Given the description of an element on the screen output the (x, y) to click on. 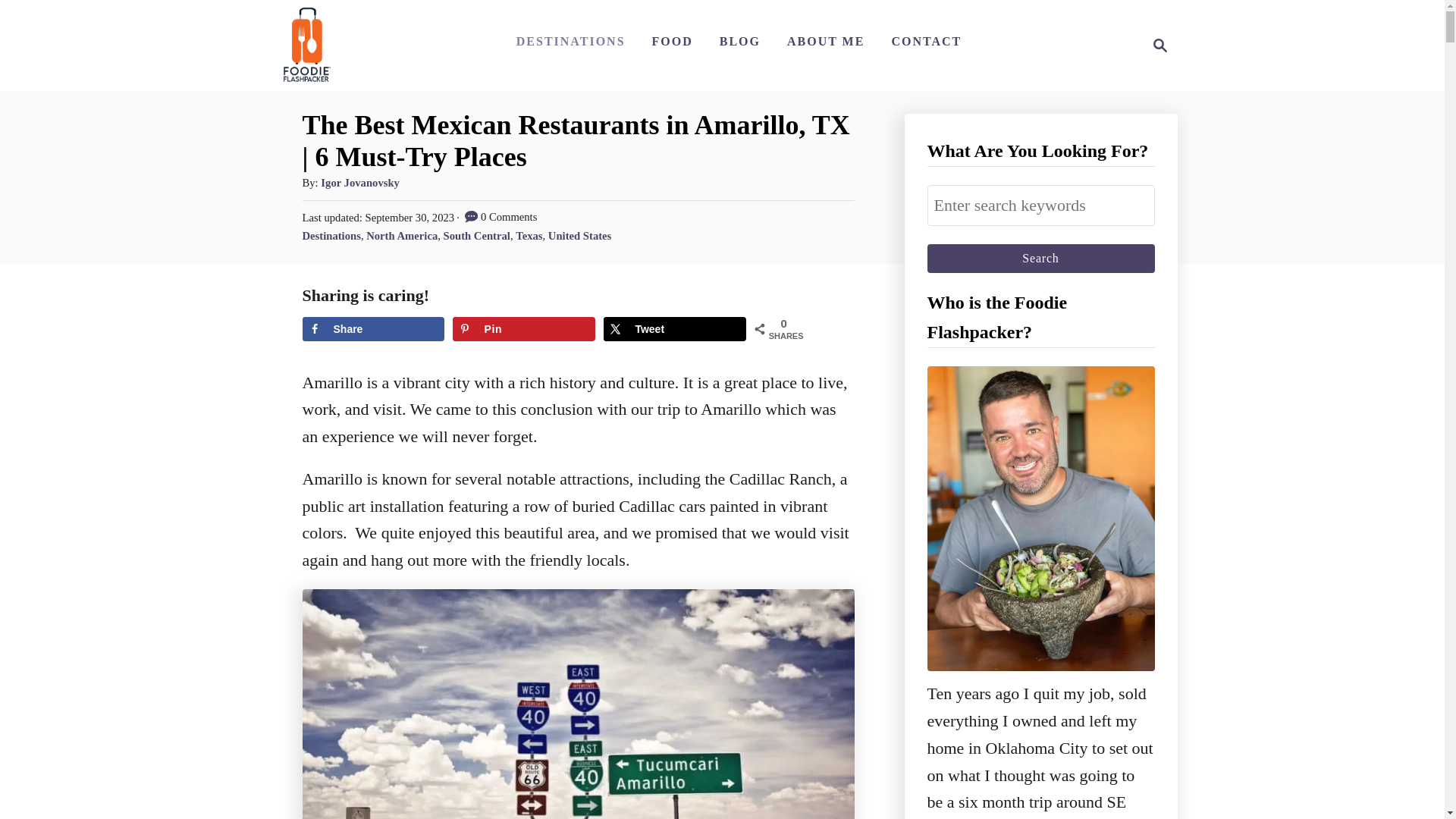
Magnifying Glass (1160, 45)
Search (1040, 258)
Share on X (674, 328)
Search (1040, 258)
Search for: (1040, 205)
DESTINATIONS (570, 41)
Save to Pinterest (523, 328)
Share on Facebook (372, 328)
